Given the description of an element on the screen output the (x, y) to click on. 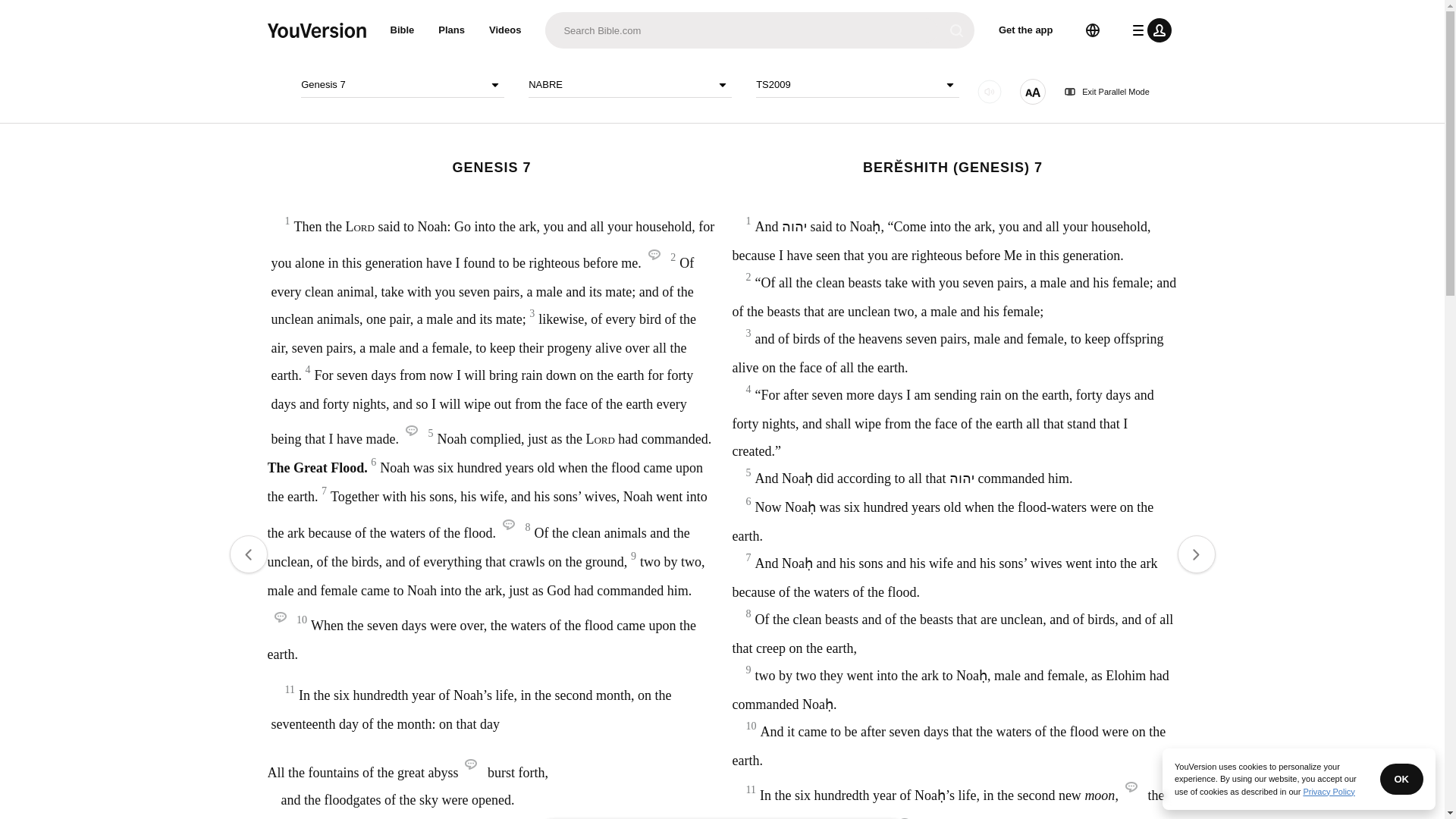
Genesis 7 (402, 84)
Get the app (1026, 29)
NABRE (630, 84)
Videos (504, 29)
Plans (451, 29)
Exit Parallel Mode (1107, 91)
Bible (401, 29)
TS2009 (857, 84)
